Given the description of an element on the screen output the (x, y) to click on. 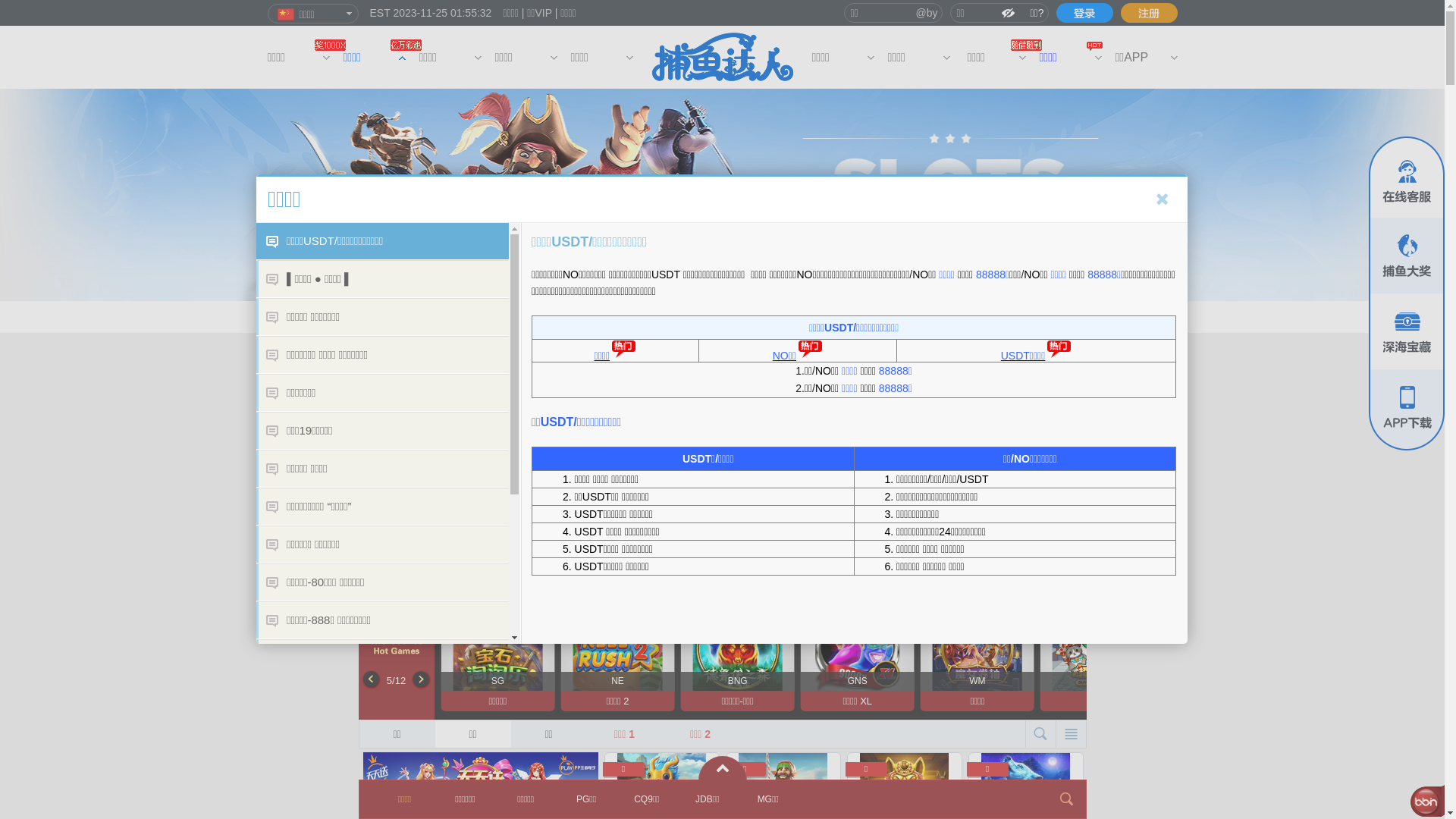
  Element type: text (1083, 12)
